Given the description of an element on the screen output the (x, y) to click on. 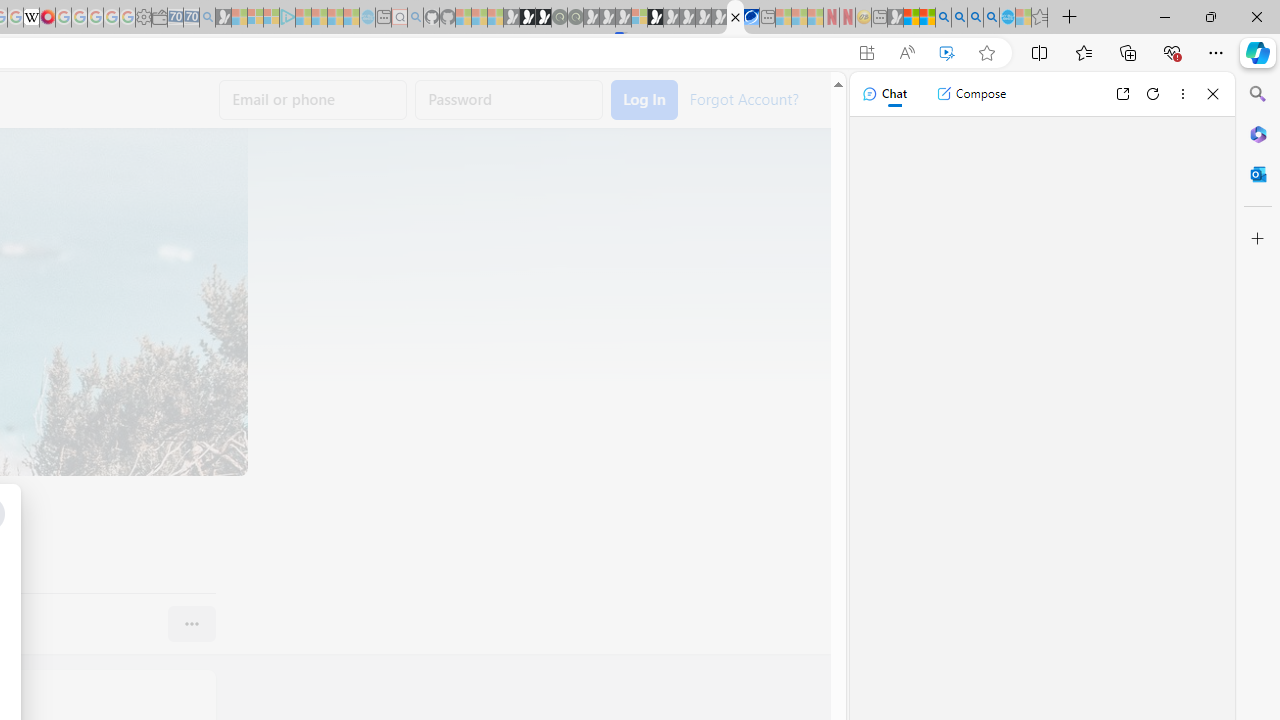
Password (509, 99)
